Given the description of an element on the screen output the (x, y) to click on. 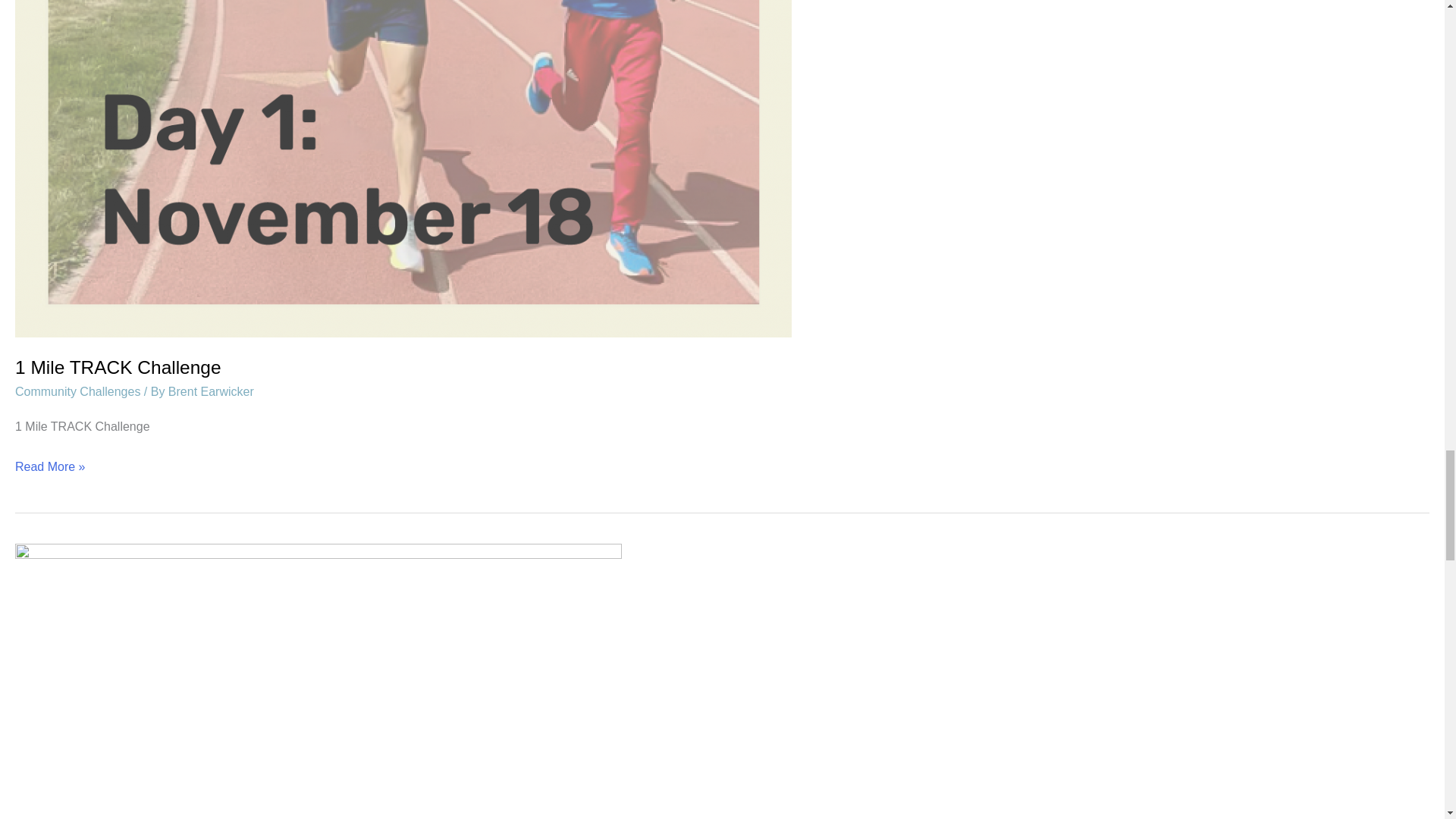
Brent Earwicker (210, 391)
View all posts by Brent Earwicker (210, 391)
Community Challenges (76, 391)
1 Mile TRACK Challenge (117, 367)
